Given the description of an element on the screen output the (x, y) to click on. 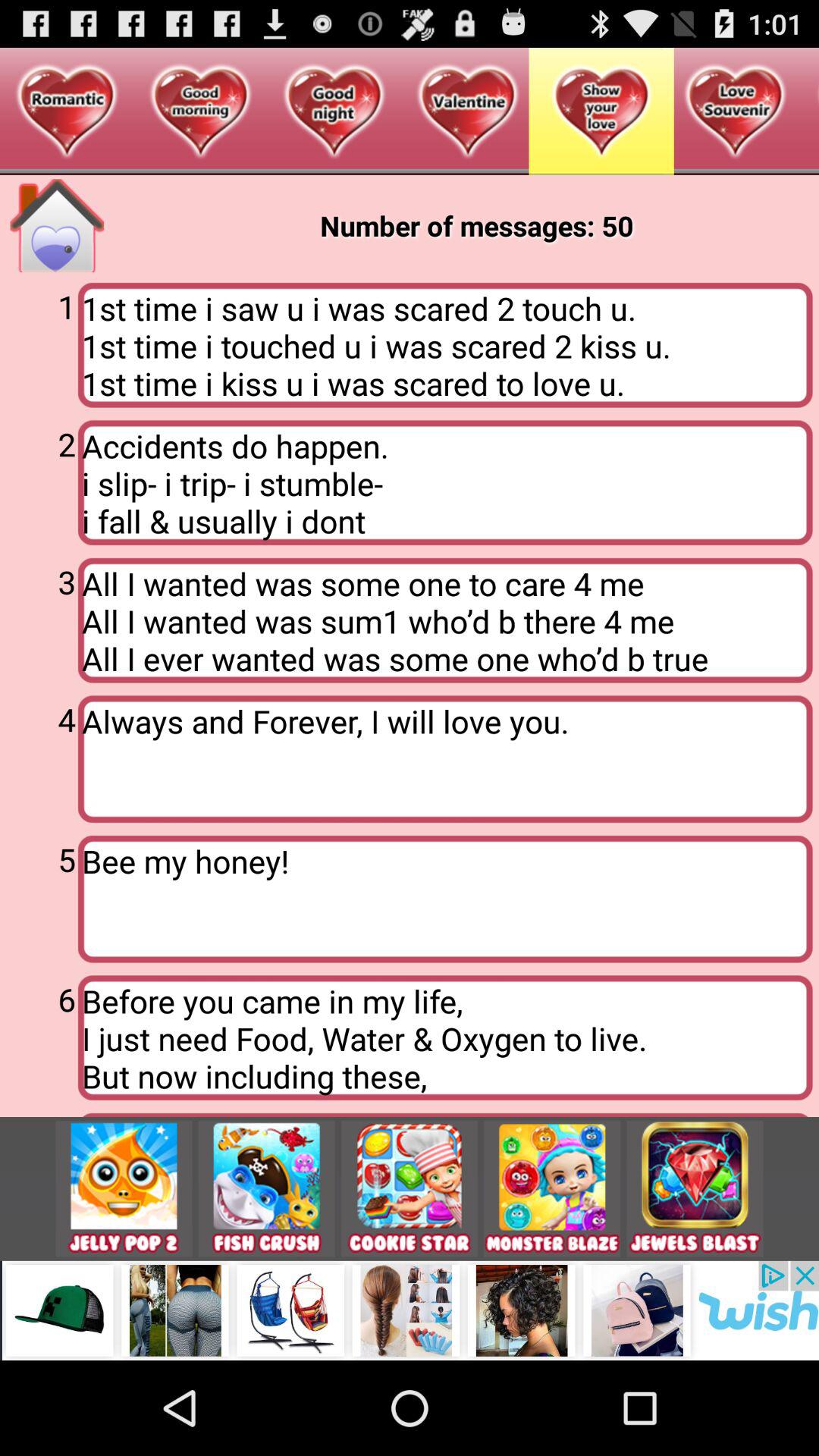
click here to play jewels blast (694, 1188)
